Given the description of an element on the screen output the (x, y) to click on. 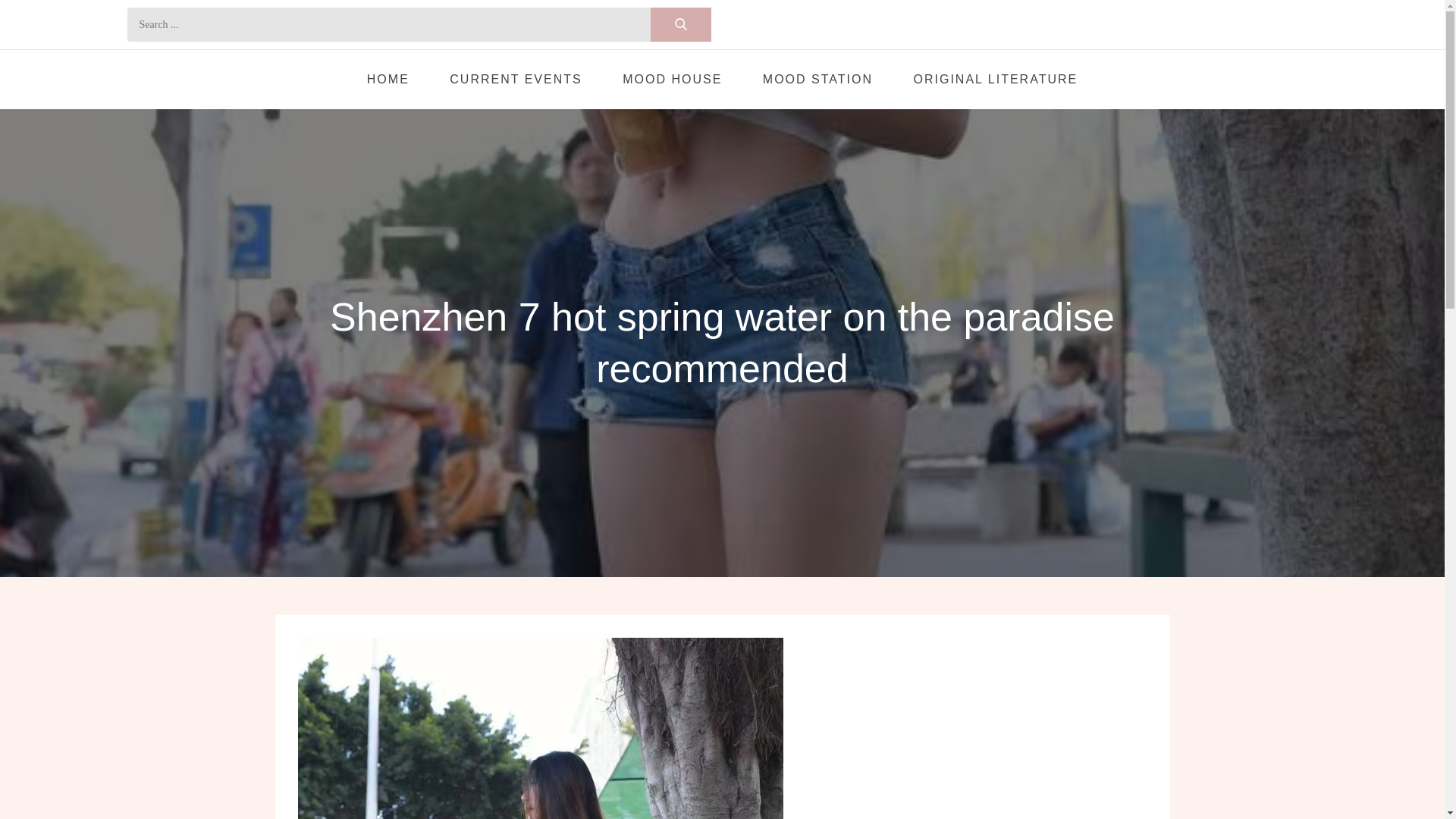
MOOD HOUSE (672, 78)
MOOD STATION (817, 78)
Search for: (419, 24)
HOME (387, 78)
Search (680, 24)
CURRENT EVENTS (514, 78)
ORIGINAL LITERATURE (996, 78)
